Given the description of an element on the screen output the (x, y) to click on. 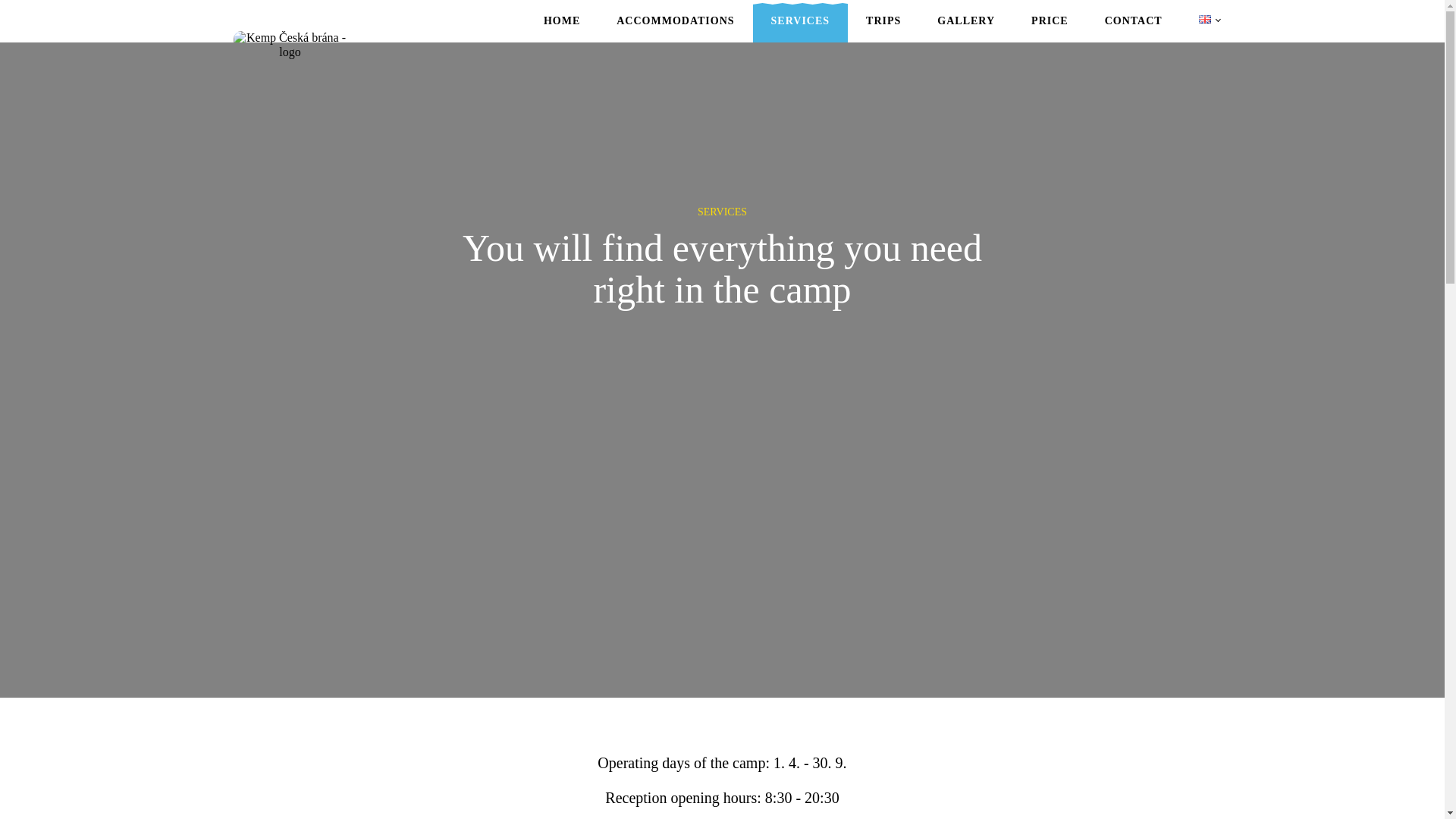
GALLERY (965, 29)
CONTACT (1133, 29)
PRICE (1049, 29)
HOME (561, 29)
ACCOMMODATIONS (675, 29)
TRIPS (882, 29)
SERVICES (800, 29)
